Given the description of an element on the screen output the (x, y) to click on. 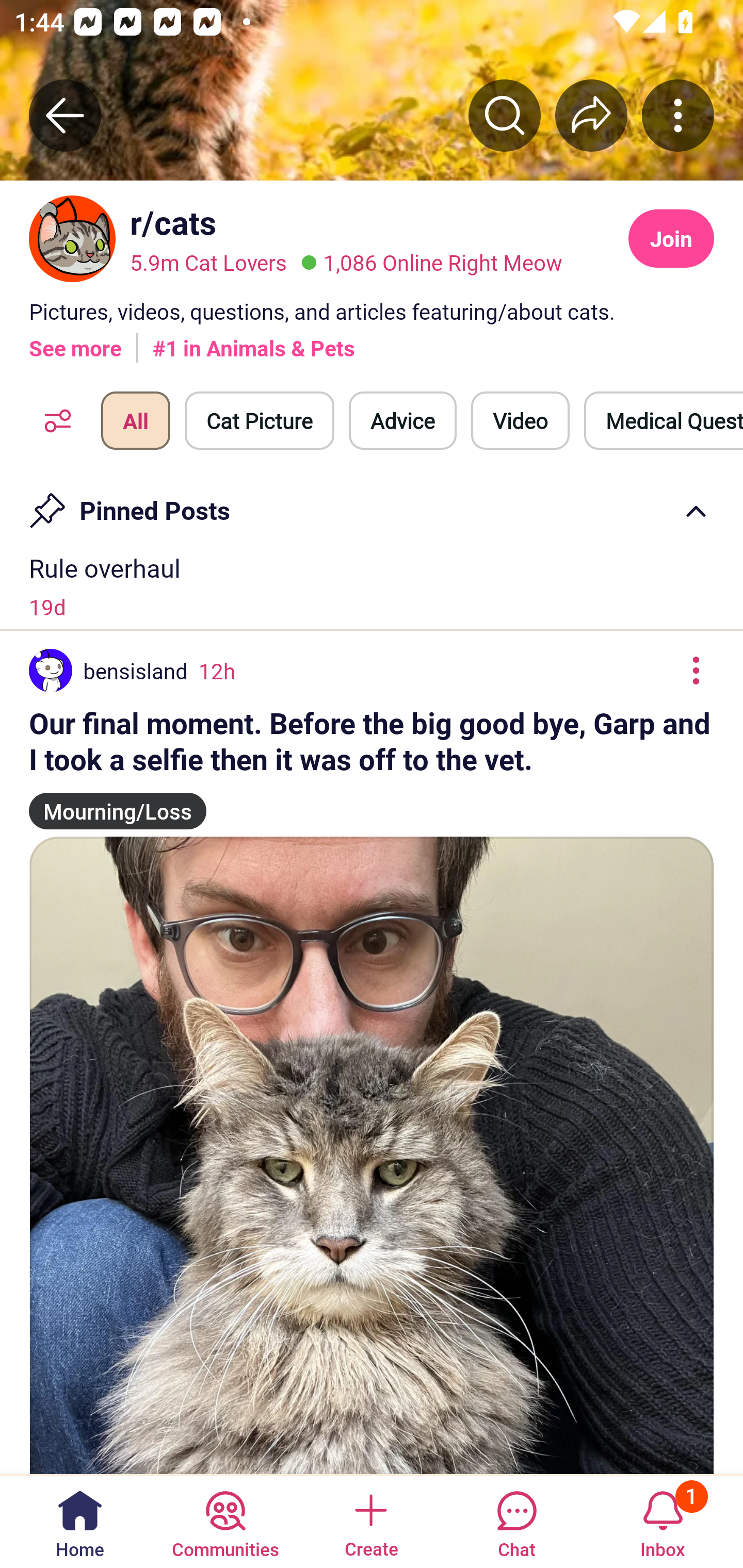
Back (64, 115)
Search r/﻿cats (504, 115)
Share r/﻿cats (591, 115)
More community actions (677, 115)
Feed Options (53, 421)
All (135, 421)
Cat Picture (259, 421)
Advice (402, 421)
Video (520, 421)
Medical Questio… (663, 421)
Pin Pinned Posts Caret (371, 503)
Rule overhaul 19d (371, 586)
Mourning/Loss (117, 802)
Home (80, 1520)
Communities (225, 1520)
Create a post Create (370, 1520)
Chat (516, 1520)
Inbox, has 1 notification 1 Inbox (662, 1520)
